Given the description of an element on the screen output the (x, y) to click on. 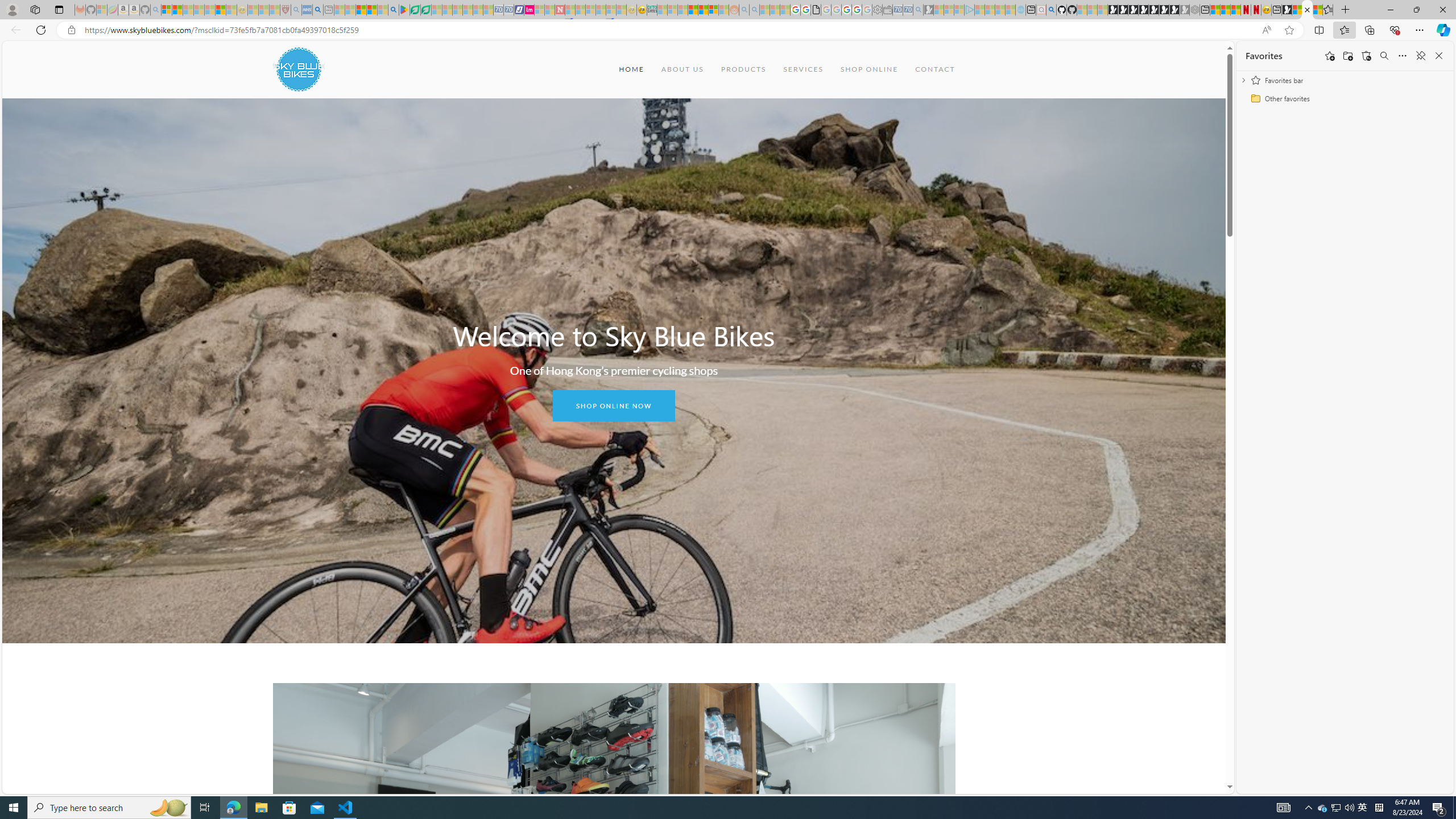
Bluey: Let's Play! - Apps on Google Play (404, 9)
Microsoft Word - consumer-privacy address update 2.2021 (426, 9)
Expert Portfolios (692, 9)
PRODUCTS (742, 68)
utah sues federal government - Search (317, 9)
